Given the description of an element on the screen output the (x, y) to click on. 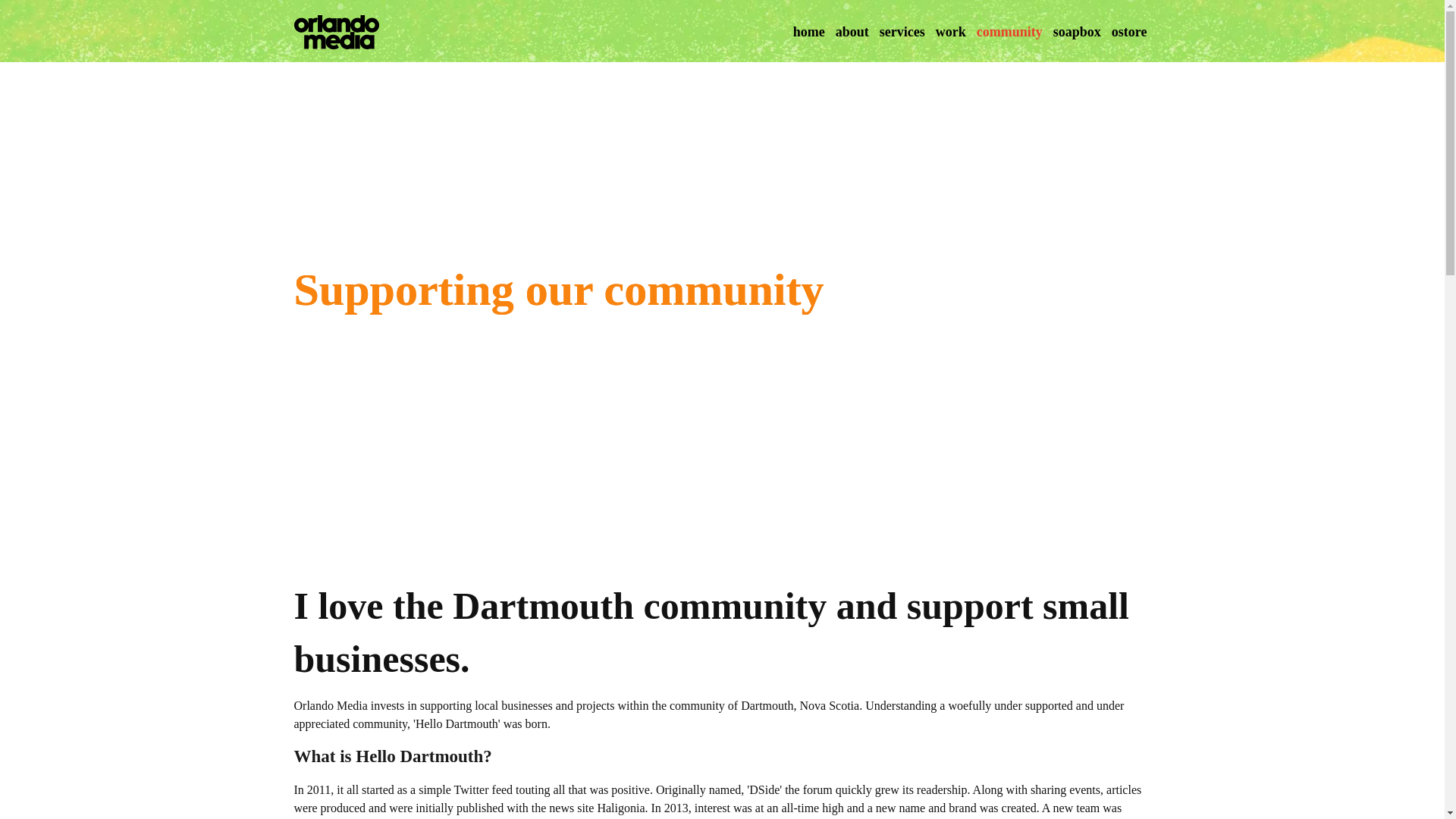
OMC-logo-black (336, 32)
soapbox (1077, 32)
ostore (1129, 32)
services (902, 32)
home (808, 32)
about (851, 32)
community (1009, 32)
work (950, 32)
